Given the description of an element on the screen output the (x, y) to click on. 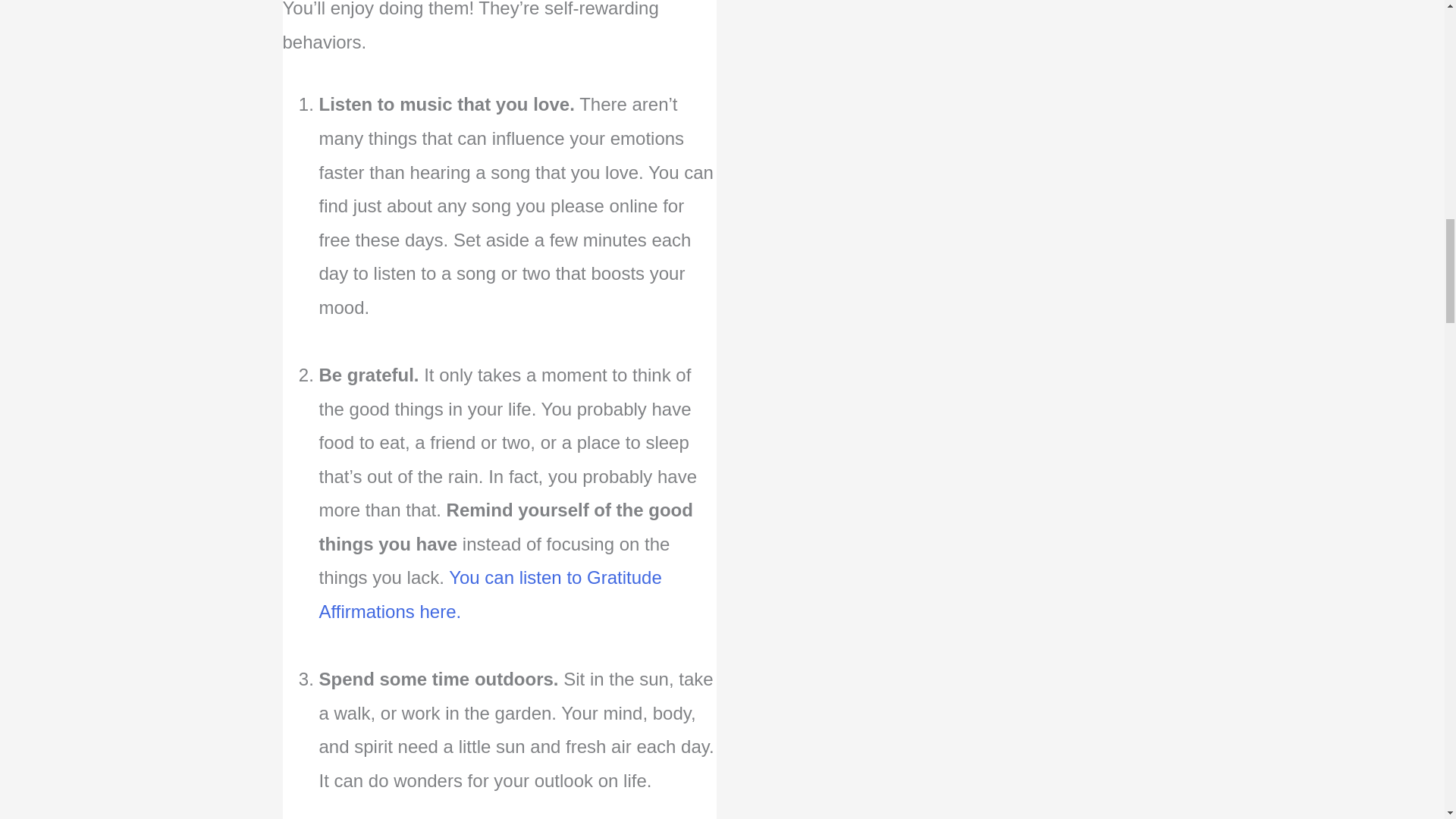
You can listen to Gratitude Affirmations here. (489, 594)
